Given the description of an element on the screen output the (x, y) to click on. 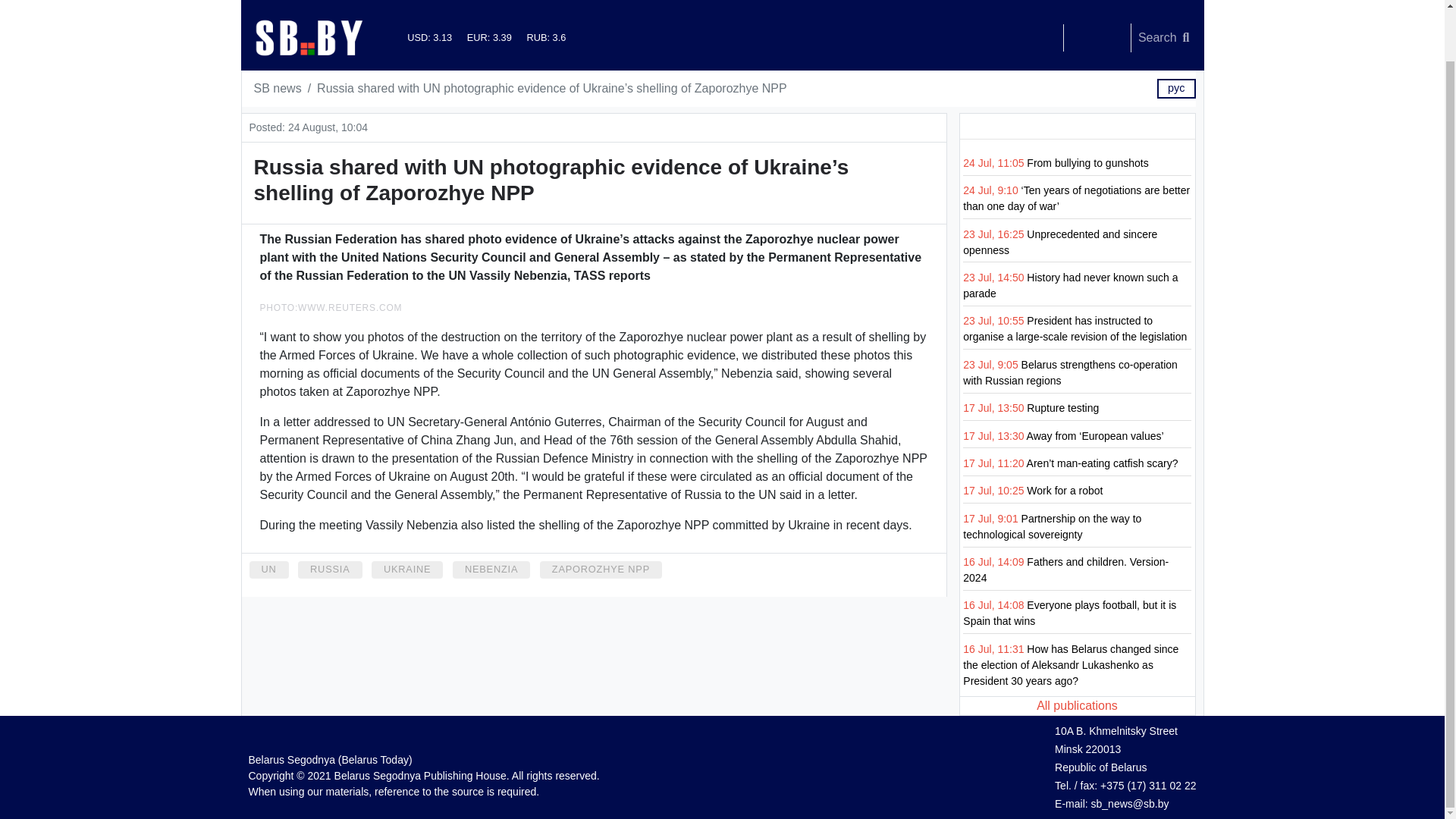
Publishing House (303, 2)
Projects (389, 2)
